Given the description of an element on the screen output the (x, y) to click on. 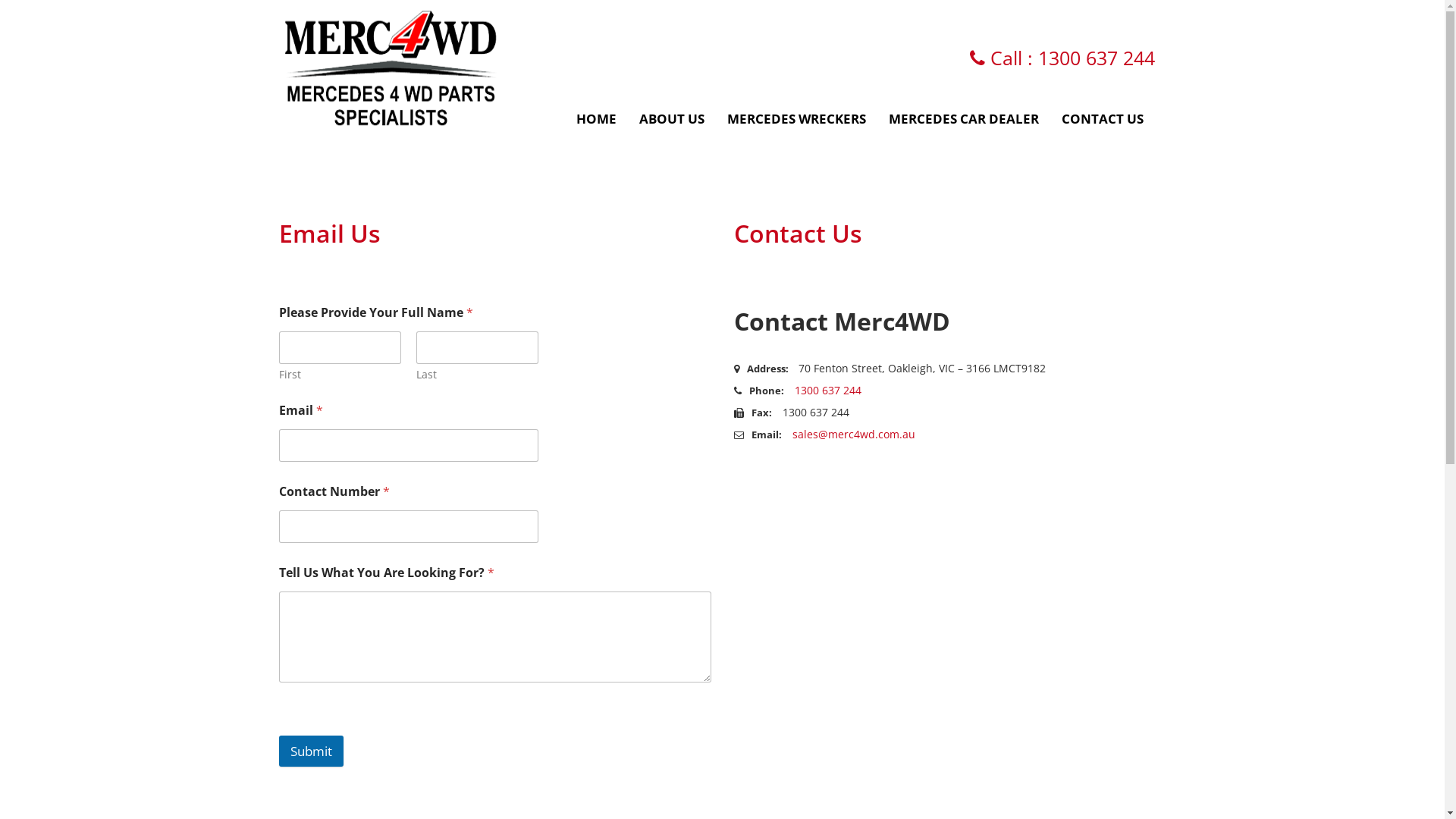
CONTACT US Element type: text (1101, 111)
Submit Element type: text (311, 750)
HOME Element type: text (595, 111)
Call : 1300 637 244 Element type: text (1061, 57)
MERCEDES CAR DEALER Element type: text (962, 111)
sales@merc4wd.com.au Element type: text (852, 433)
ABOUT US Element type: text (671, 111)
1300 637 244 Element type: text (827, 389)
MERCEDES WRECKERS Element type: text (796, 111)
